Given the description of an element on the screen output the (x, y) to click on. 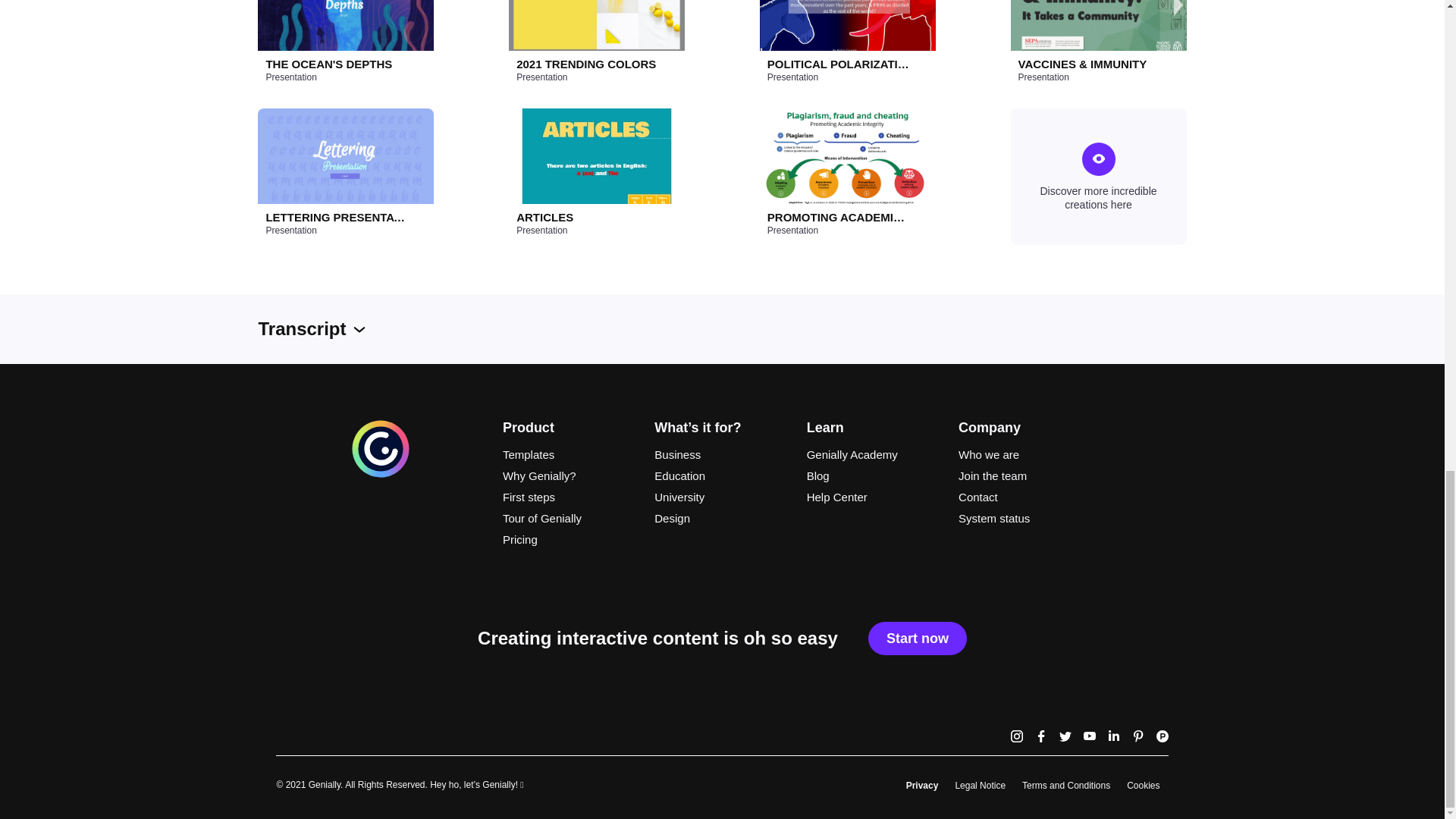
Discover more incredible creations here (1098, 176)
Pricing (569, 539)
Tour of Genially (569, 518)
LETTERING PRESENTATION (335, 217)
THE OCEAN'S DEPTHS (335, 64)
POLITICAL POLARIZATION (838, 64)
Genially home page (380, 475)
ARTICLES (587, 217)
Business (721, 454)
Templates (569, 454)
2021 TRENDING COLORS (587, 64)
PROMOTING ACADEMIC INTEGRITY (838, 217)
First steps (569, 497)
Why Genially? (569, 475)
